Given the description of an element on the screen output the (x, y) to click on. 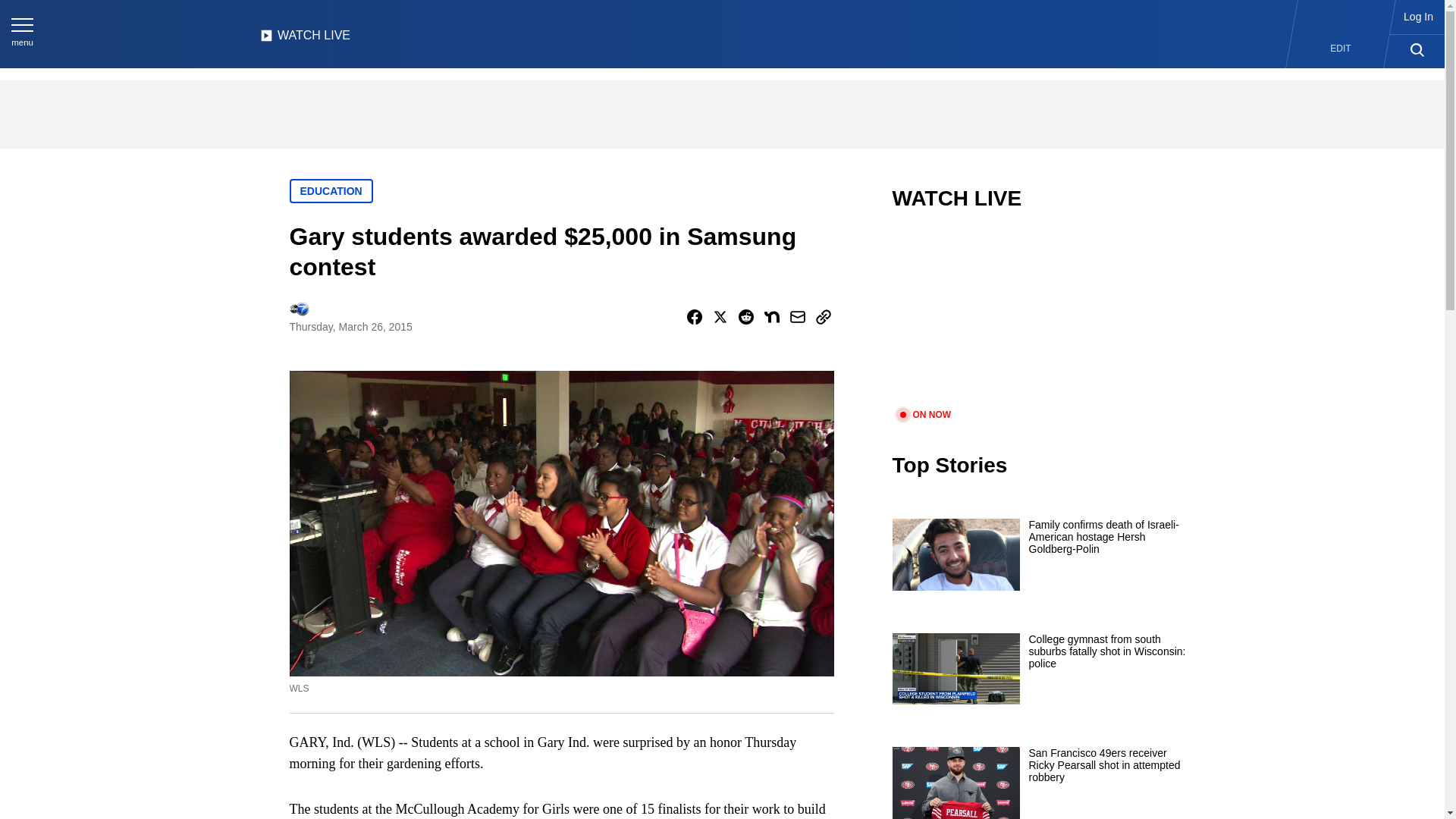
video.title (1043, 318)
WATCH LIVE (305, 39)
EDIT (1340, 48)
